Given the description of an element on the screen output the (x, y) to click on. 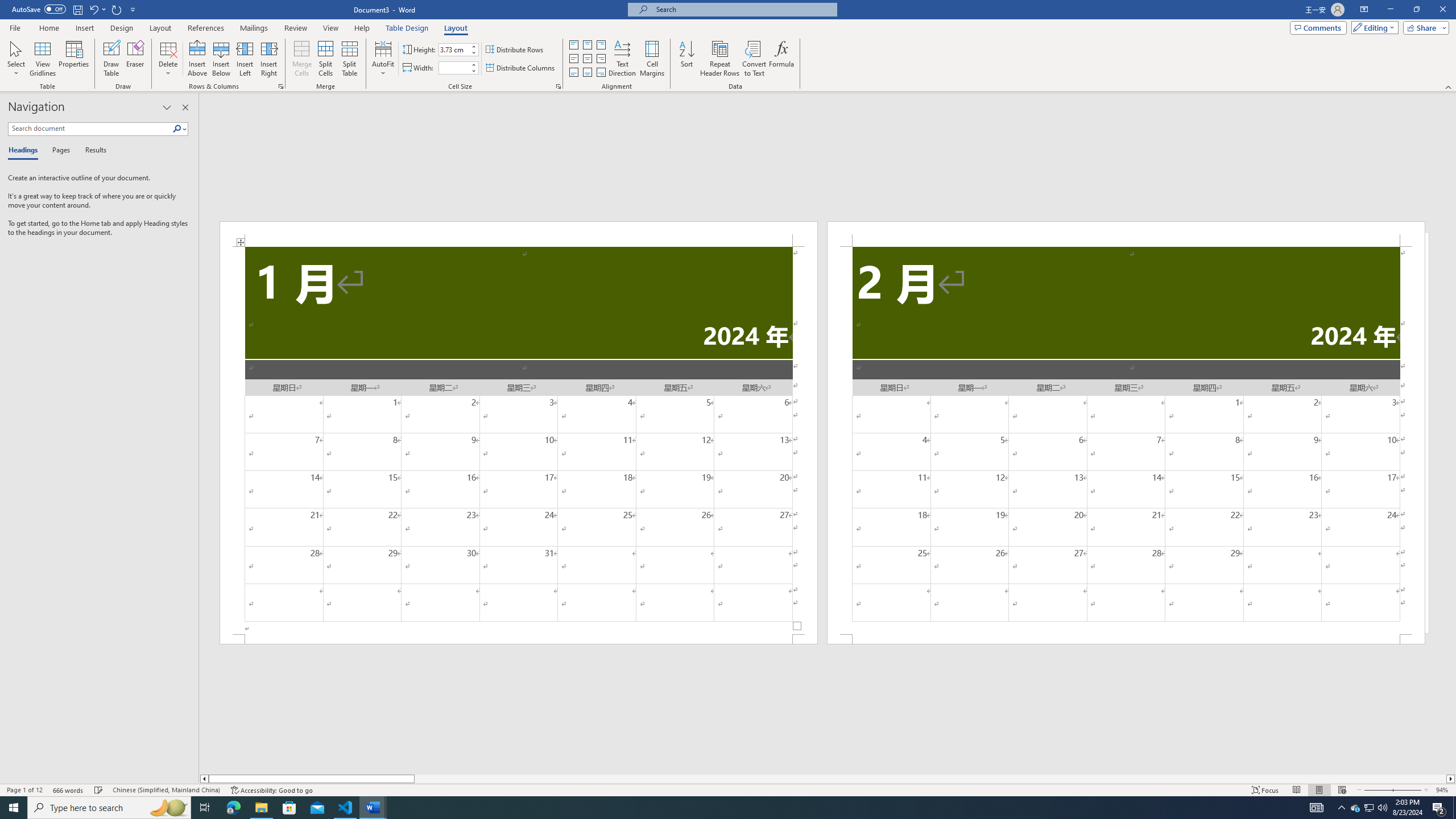
Repeat Header Rows (719, 58)
Merge Cells (301, 58)
Footer -Section 2- (1126, 638)
Align Top Justified (573, 44)
AutoFit (383, 58)
Delete (167, 58)
Align Top Right (601, 44)
Insert Above (196, 58)
